Given the description of an element on the screen output the (x, y) to click on. 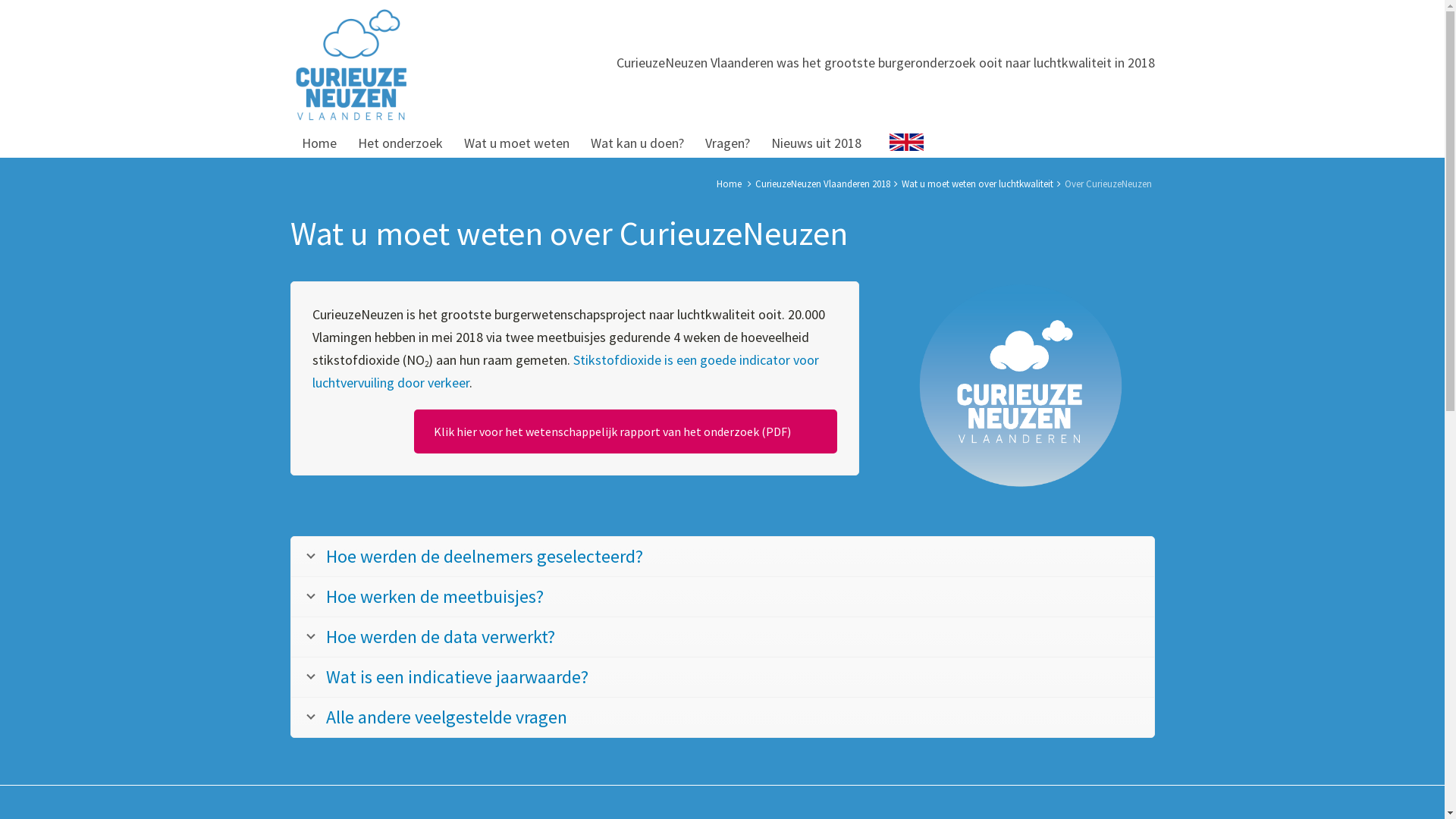
Wat u moet weten Element type: text (516, 141)
Wat u moet weten over luchtkwaliteit Element type: text (976, 183)
Vragen? Element type: text (727, 141)
Nieuws uit 2018 Element type: text (815, 141)
Wat kan u doen? Element type: text (636, 141)
Home Element type: text (318, 141)
Alle andere veelgestelde vragen Element type: text (722, 717)
Wat is een indicatieve jaarwaarde? Element type: text (722, 676)
Hoe werden de data verwerkt? Element type: text (722, 636)
Hoe werden de deelnemers geselecteerd? Element type: text (722, 556)
CurieuzeNeuzen Vlaanderen 2018 Element type: text (822, 183)
Hoe werken de meetbuisjes? Element type: text (722, 596)
Home Element type: text (727, 183)
Het onderzoek Element type: text (400, 141)
